Given the description of an element on the screen output the (x, y) to click on. 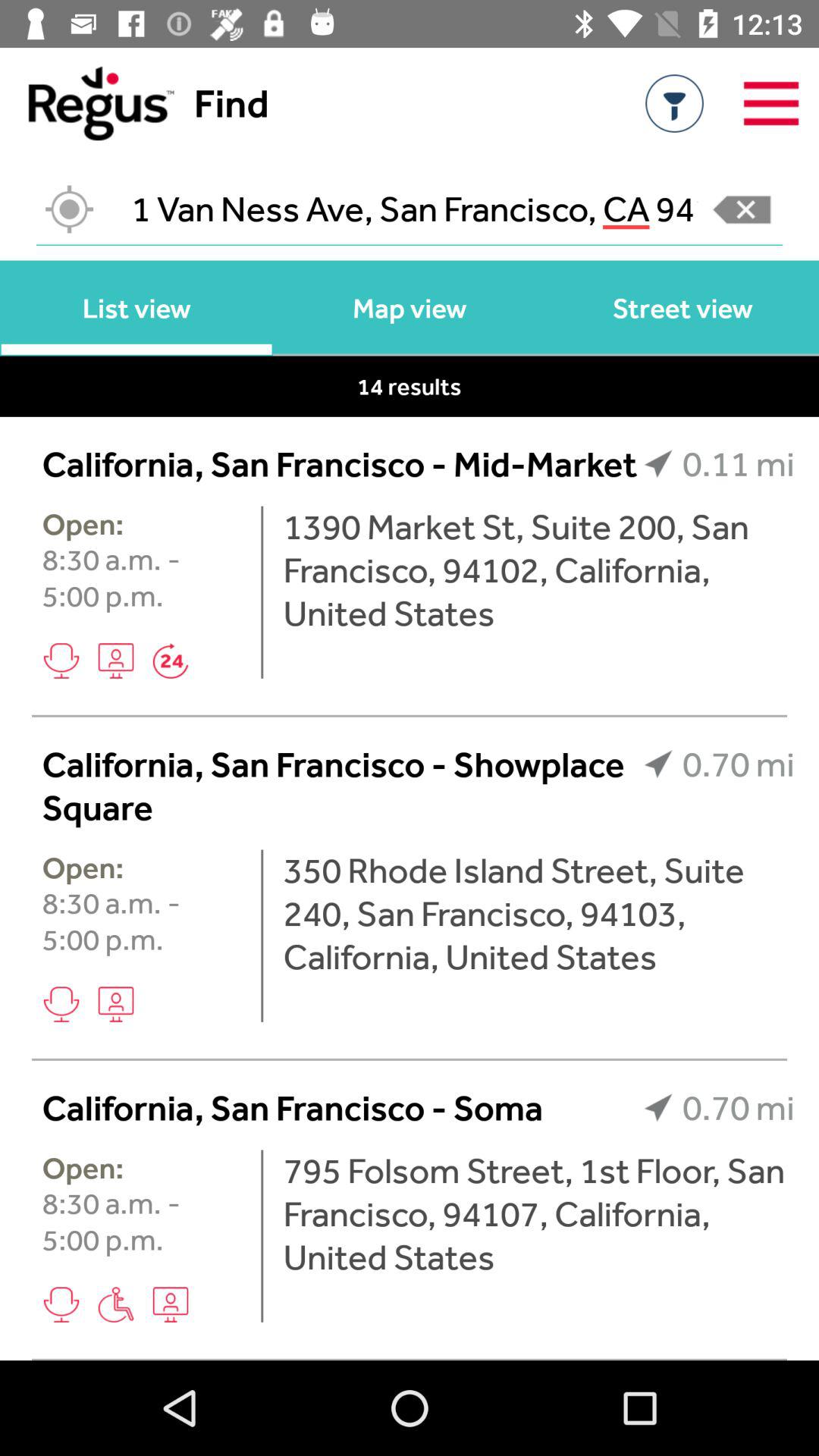
launch icon below 8 30 a item (115, 660)
